Given the description of an element on the screen output the (x, y) to click on. 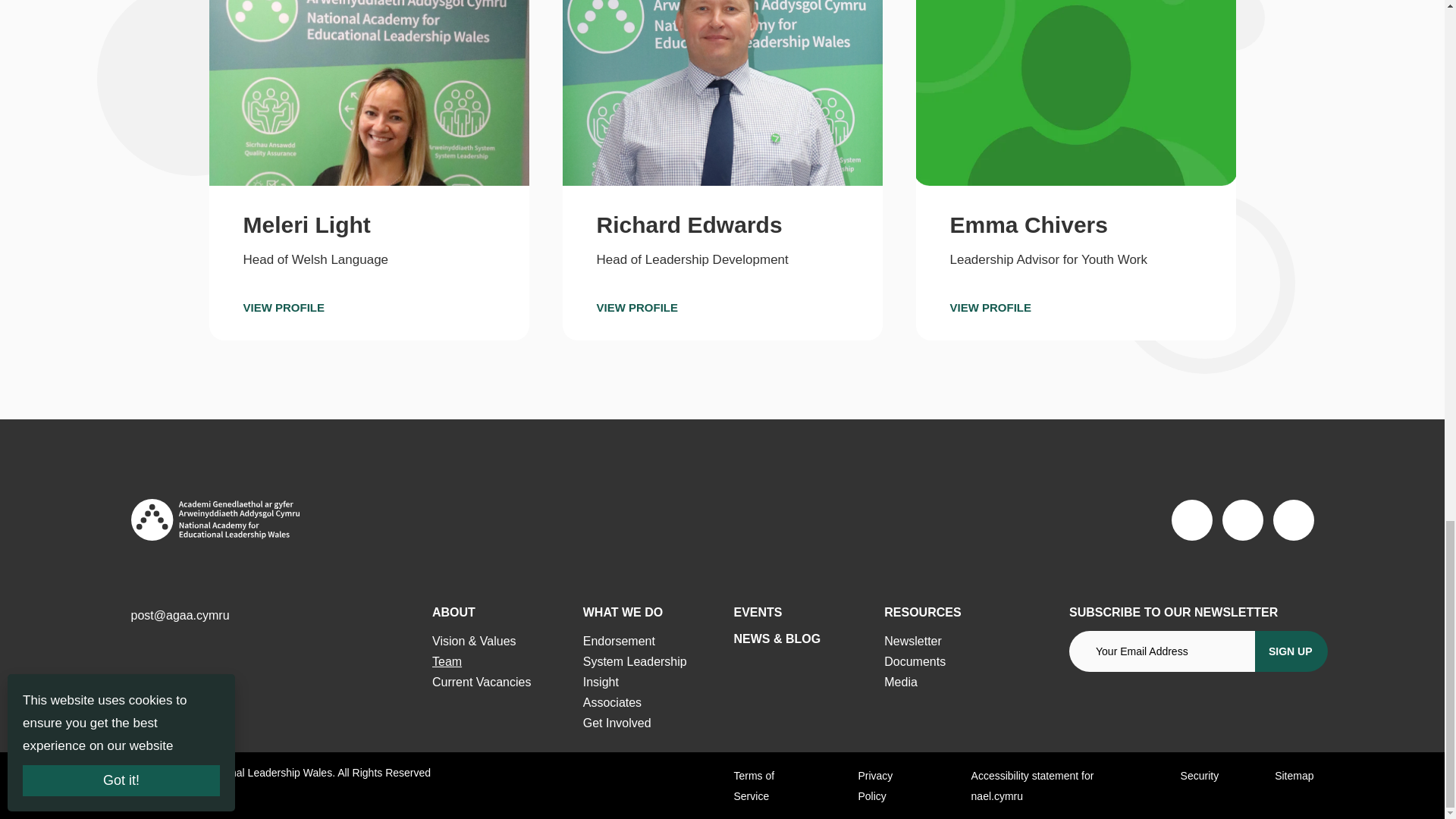
VIEW PROFILE (665, 307)
ABOUT (454, 612)
SIGN UP (1291, 650)
VIEW PROFILE (313, 307)
VIEW PROFILE (1019, 307)
